Given the description of an element on the screen output the (x, y) to click on. 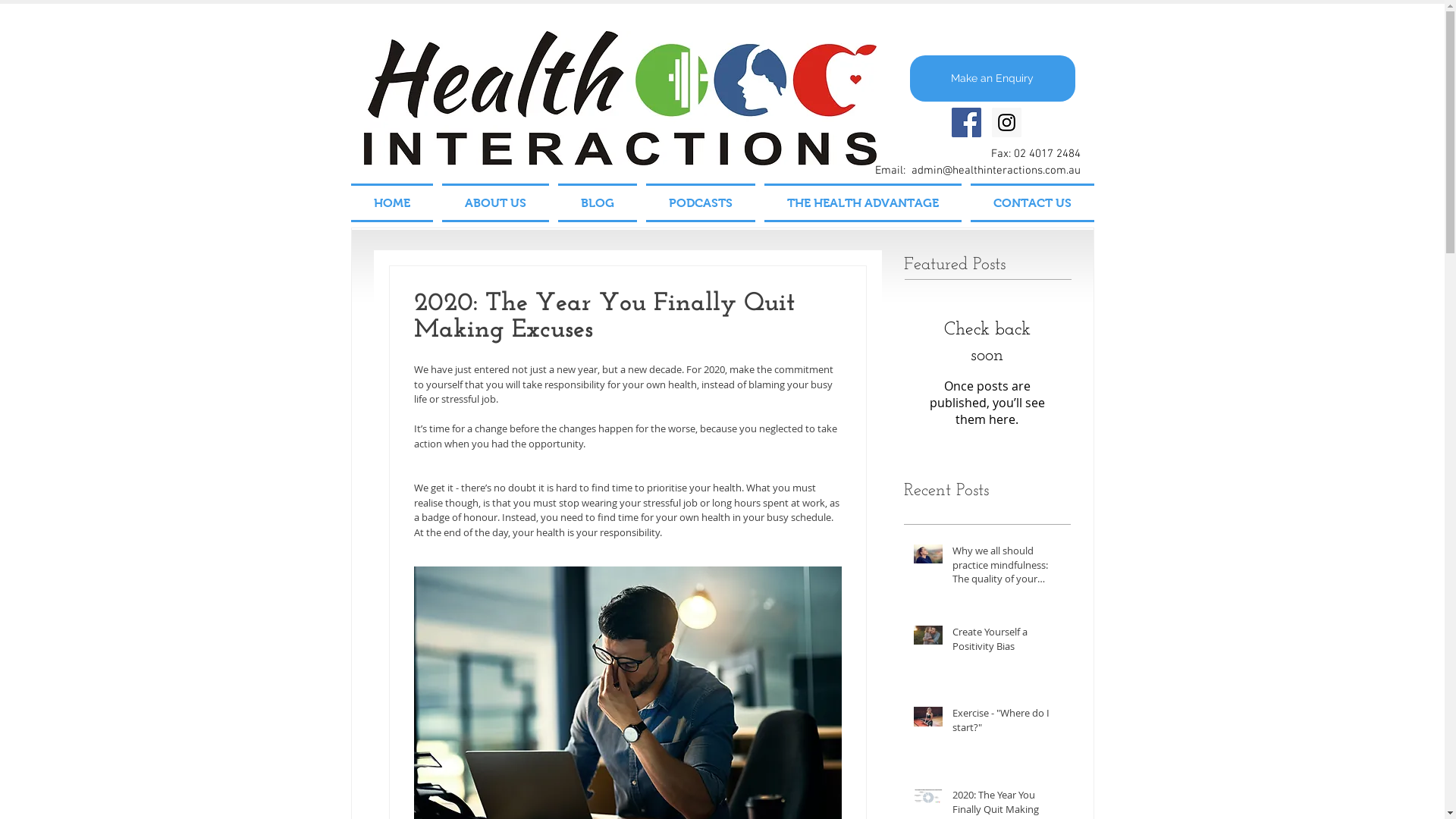
Create Yourself a Positivity Bias Element type: text (1006, 641)
HOME Element type: text (393, 202)
ABOUT US Element type: text (494, 202)
Exercise - "Where do I start?" Element type: text (1006, 722)
BLOG Element type: text (597, 202)
admin@healthinteractions.com.au Element type: text (995, 170)
CONTACT US Element type: text (1030, 202)
PODCASTS Element type: text (700, 202)
THE HEALTH ADVANTAGE Element type: text (862, 202)
Make an Enquiry Element type: text (992, 78)
